Given the description of an element on the screen output the (x, y) to click on. 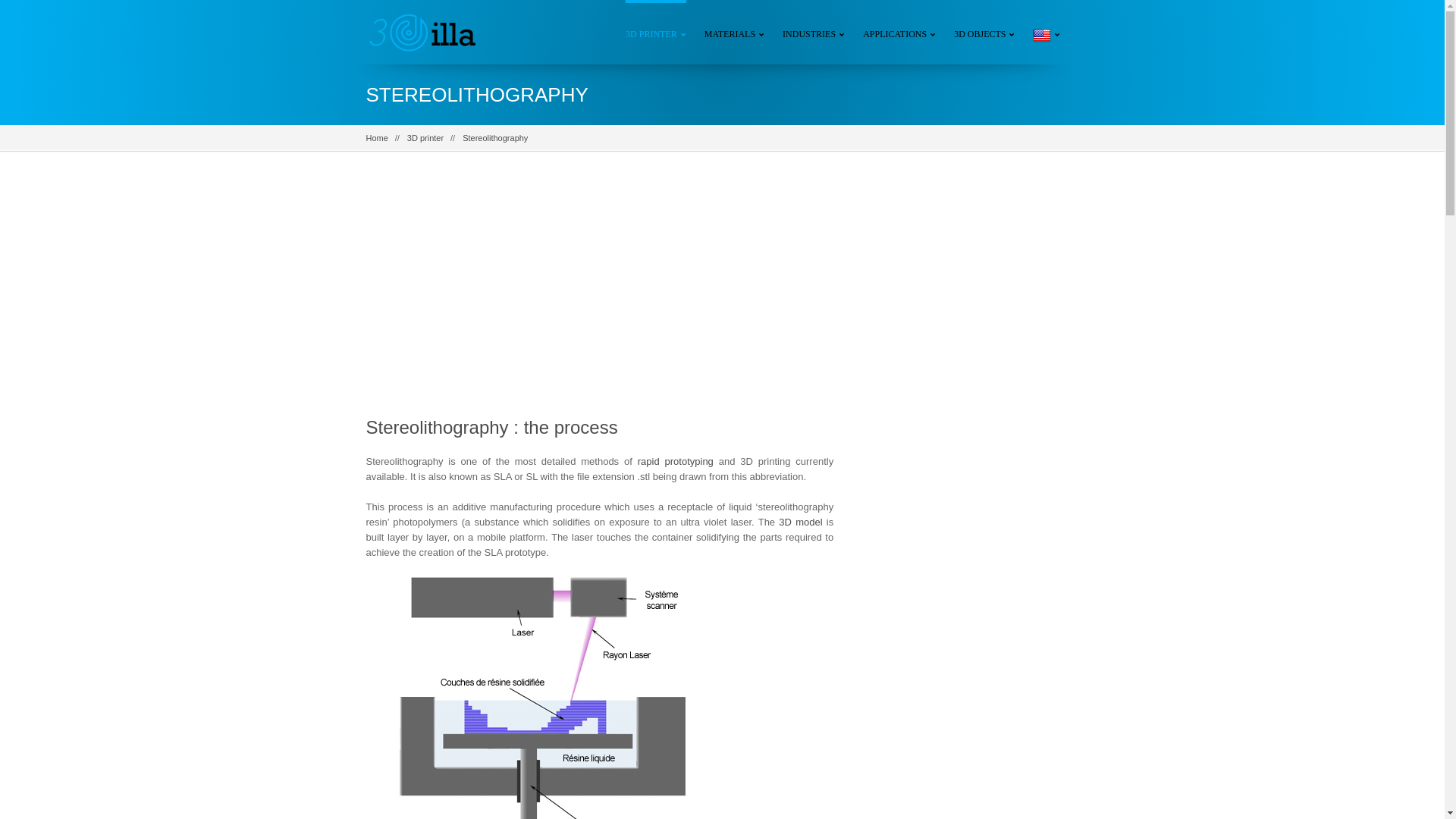
Stereolithography Element type: text (494, 137)
MATERIALS Element type: text (734, 32)
3D printer Element type: text (425, 137)
3D model Element type: text (800, 521)
Advertisement Element type: hover (599, 294)
rapid prototyping Element type: text (675, 461)
Home Element type: text (376, 137)
3D PRINTER Element type: text (655, 32)
3D OBJECTS Element type: text (983, 32)
APPLICATIONS Element type: text (898, 32)
Advertisement Element type: hover (967, 415)
INDUSTRIES Element type: text (813, 32)
